Given the description of an element on the screen output the (x, y) to click on. 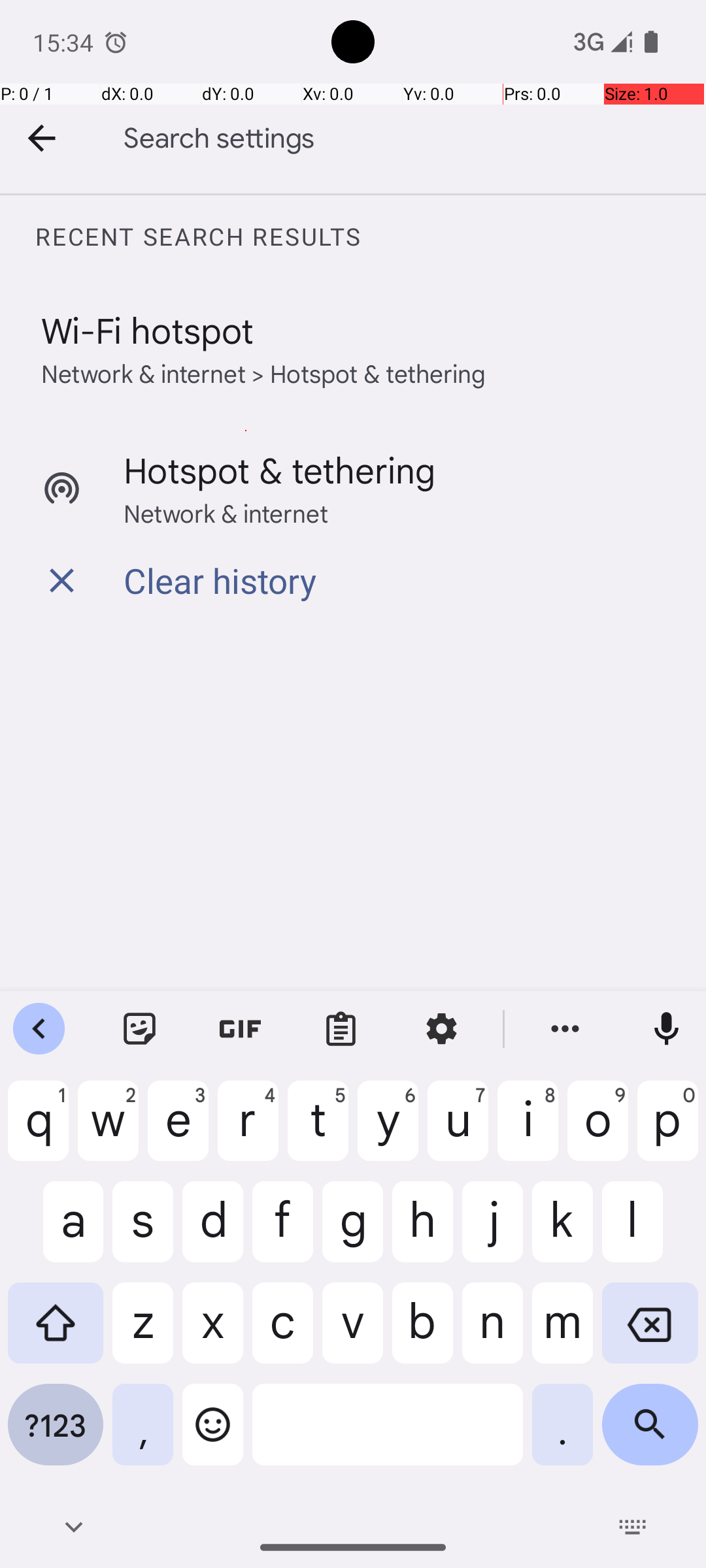
RECENT SEARCH RESULTS Element type: android.widget.TextView (370, 236)
Wi-Fi hotspot Element type: android.widget.TextView (147, 329)
Network & internet > Hotspot & tethering Element type: android.widget.TextView (263, 372)
Clear history Element type: android.widget.TextView (219, 580)
